Given the description of an element on the screen output the (x, y) to click on. 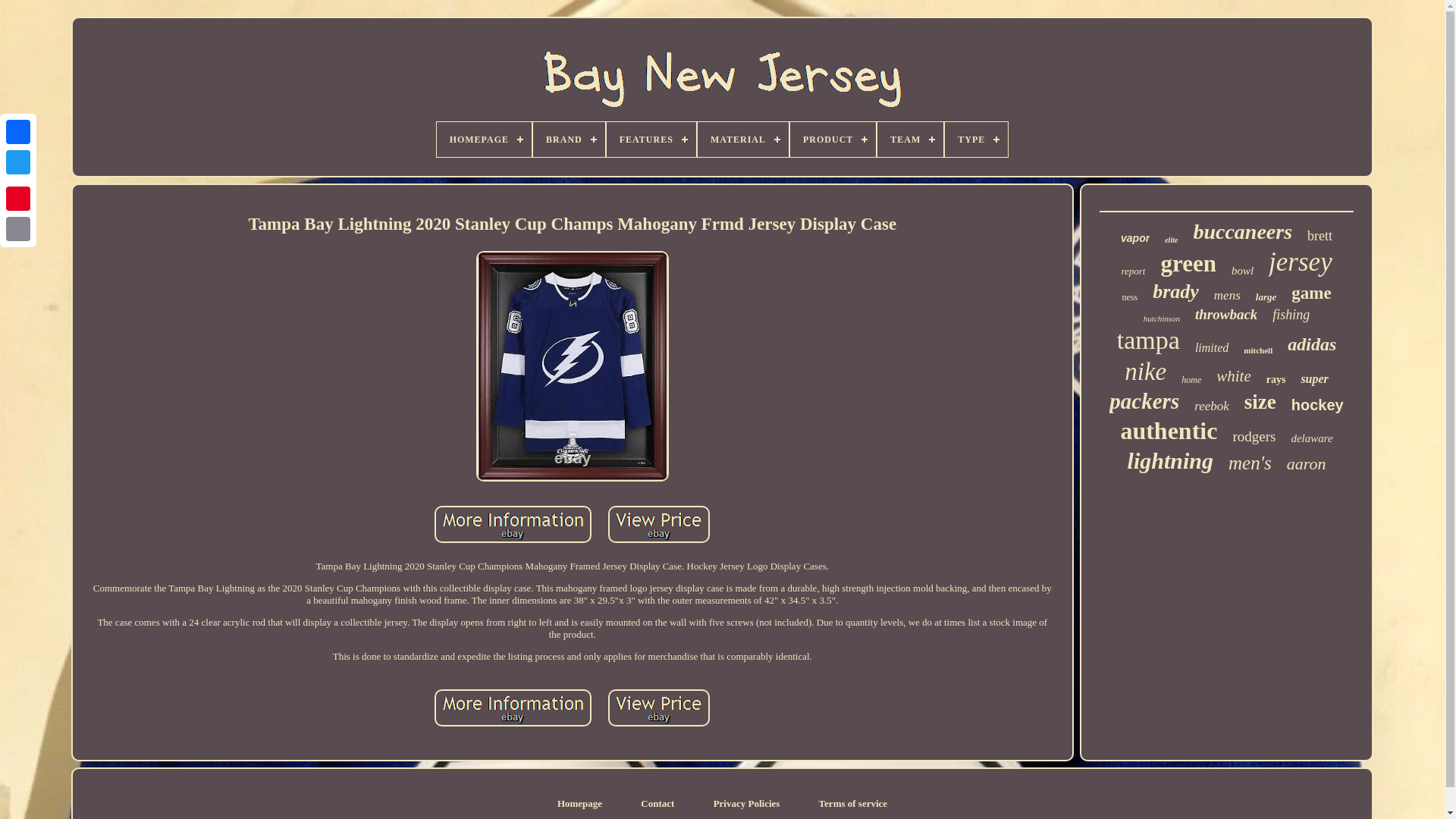
HOMEPAGE (483, 139)
FEATURES (651, 139)
MATERIAL (743, 139)
BRAND (568, 139)
